Given the description of an element on the screen output the (x, y) to click on. 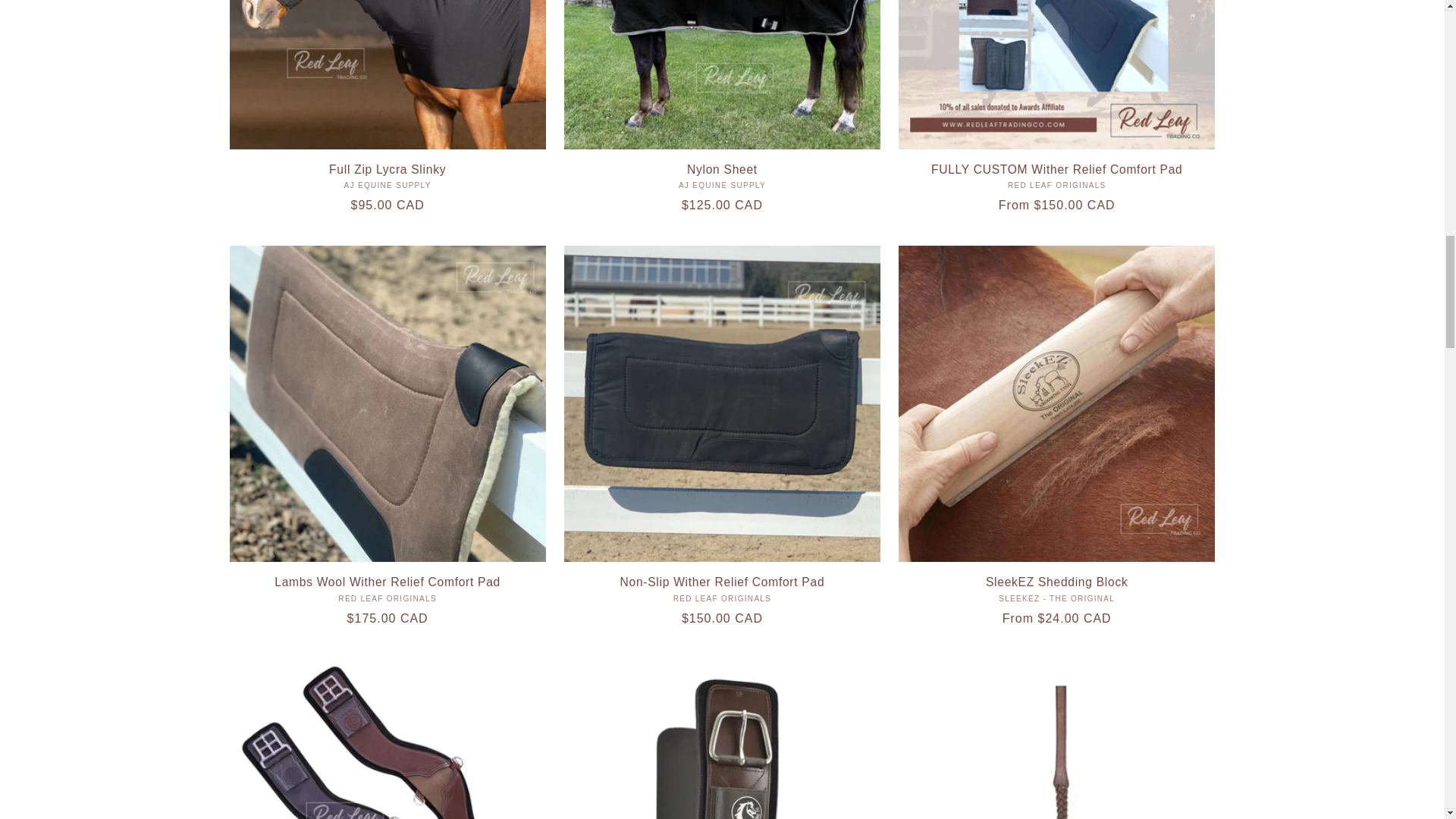
Nylon Sheet (722, 169)
Full Zip Lycra Slinky (386, 169)
